Given the description of an element on the screen output the (x, y) to click on. 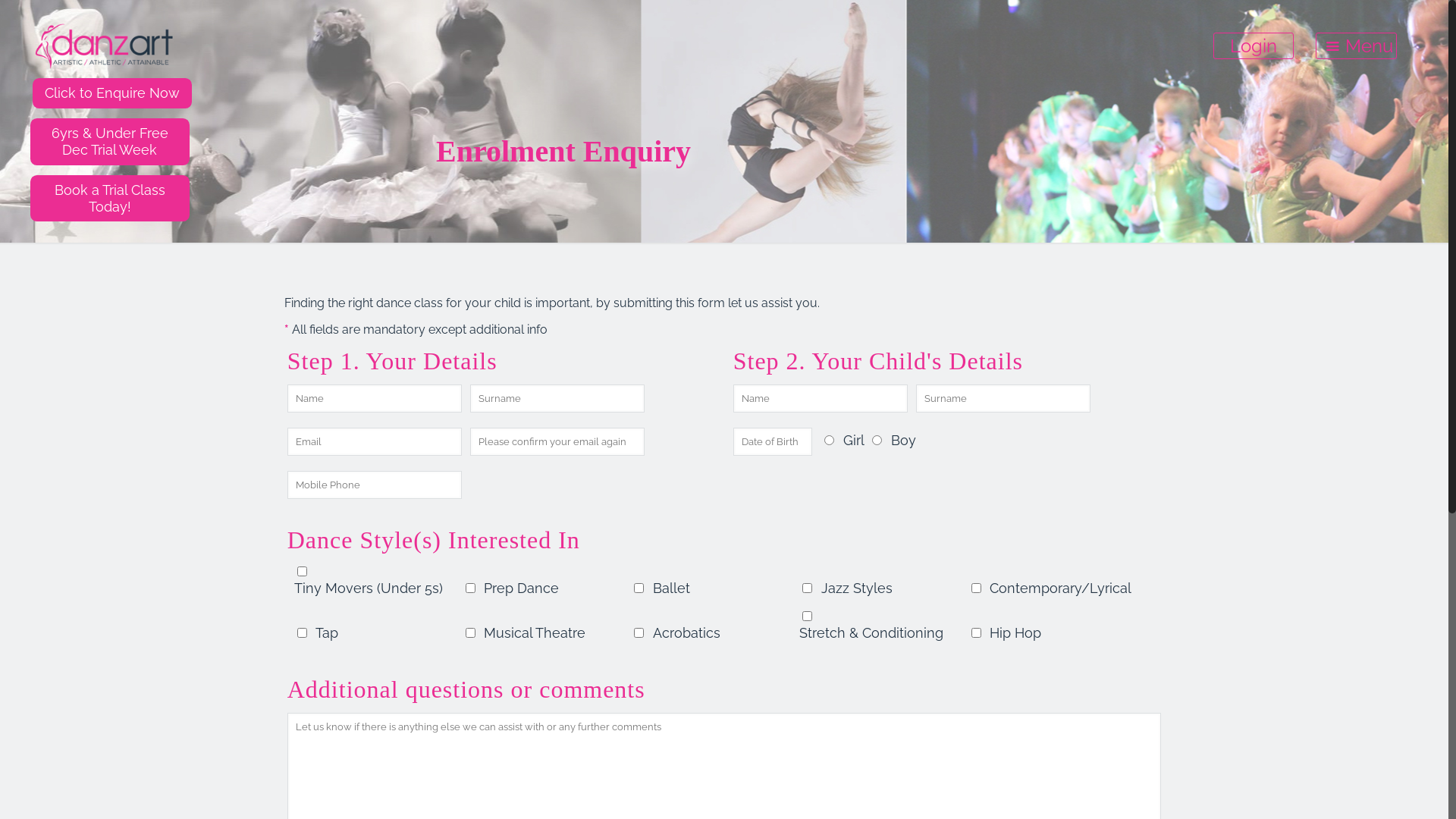
Danzart Studio Element type: hover (111, 45)
6yrs & Under Free Dec Trial Week Element type: text (109, 141)
Login Element type: text (1253, 45)
Menu Element type: text (1355, 45)
Book a Trial Class
Today! Element type: text (109, 198)
Click to Enquire Now Element type: text (111, 93)
